Given the description of an element on the screen output the (x, y) to click on. 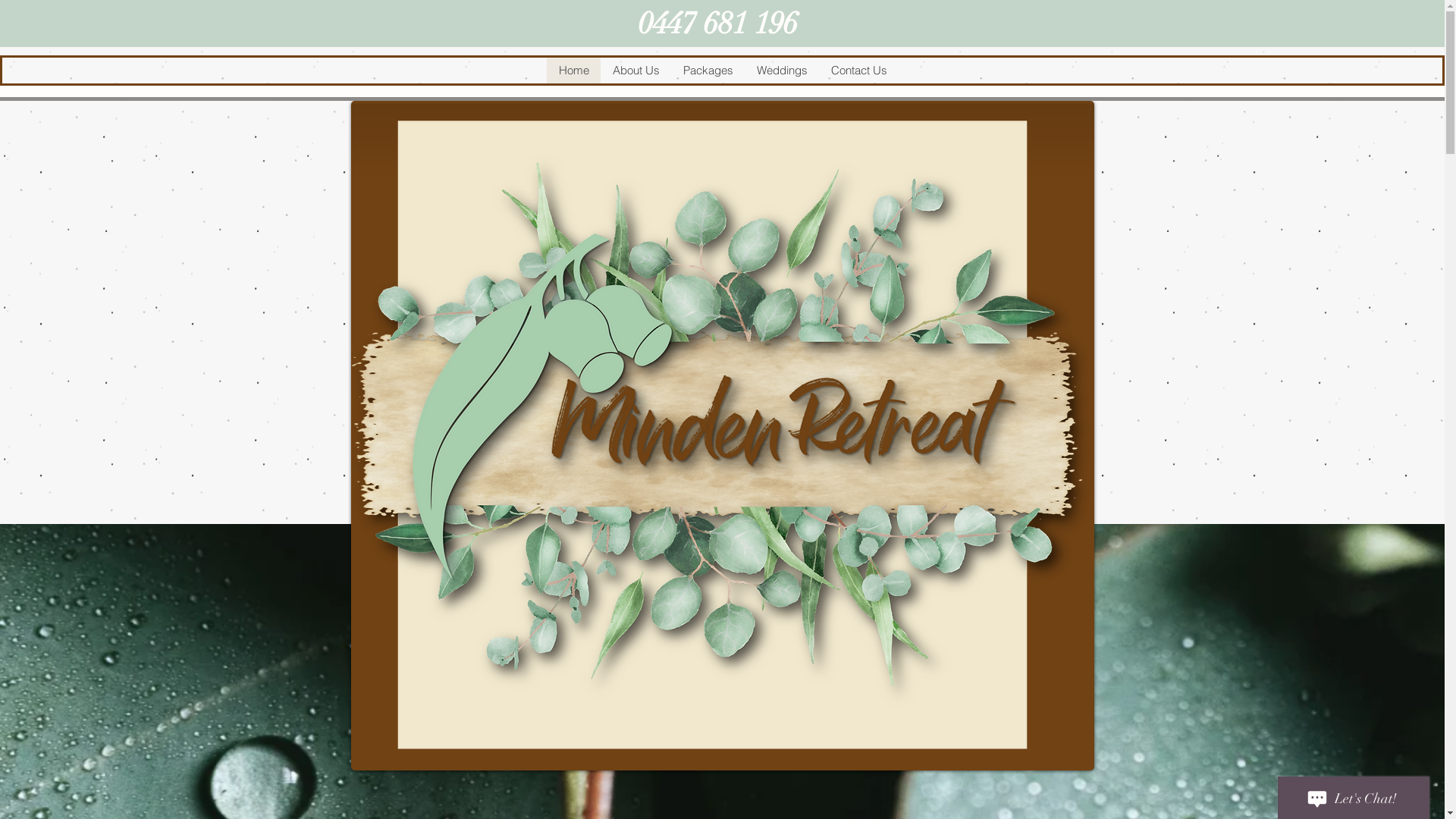
Contact Us Element type: text (858, 70)
Packages Element type: text (706, 70)
Weddings Element type: text (781, 70)
About Us Element type: text (635, 70)
Home Element type: text (572, 70)
